Given the description of an element on the screen output the (x, y) to click on. 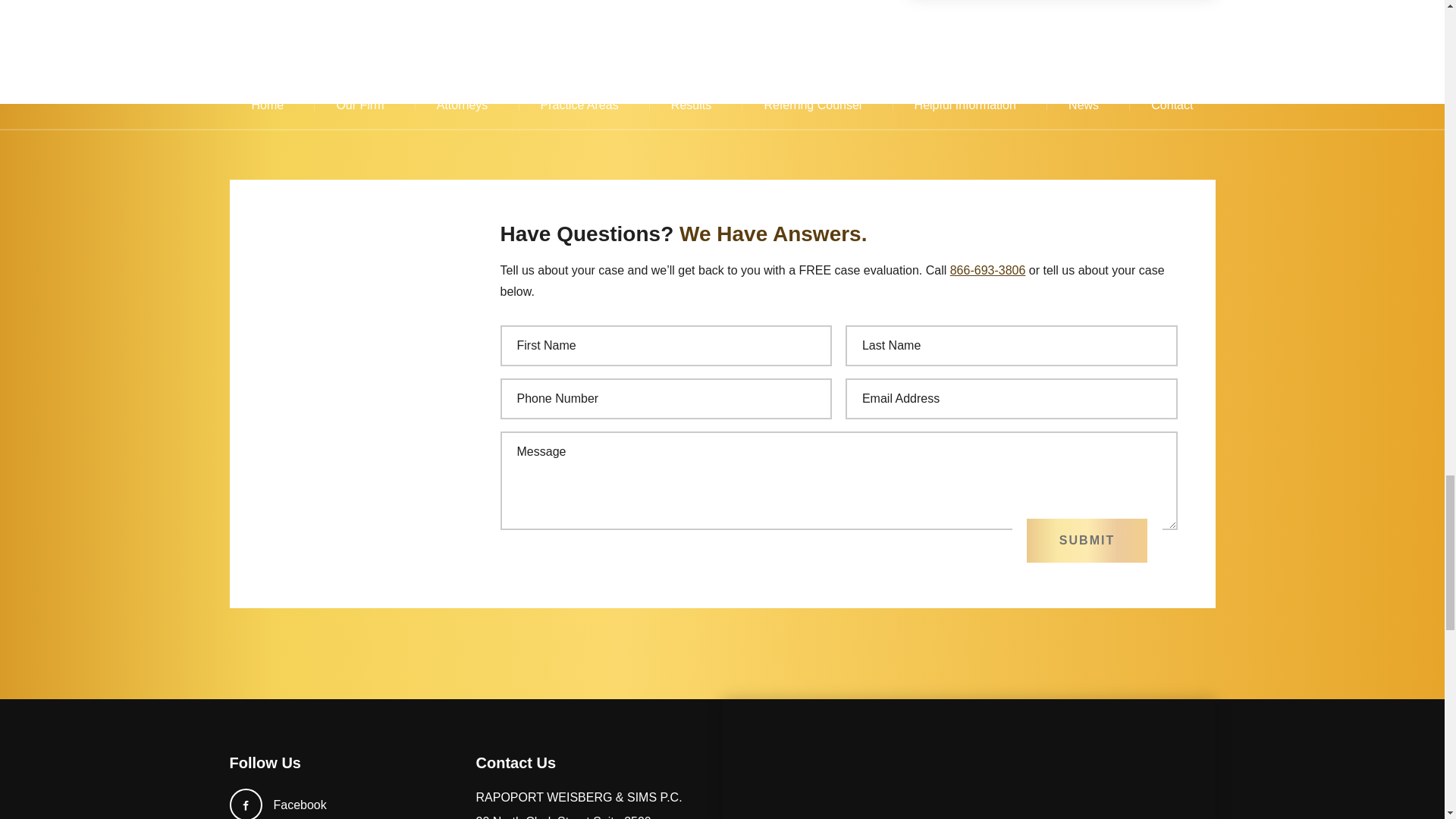
Submit (1086, 540)
